Given the description of an element on the screen output the (x, y) to click on. 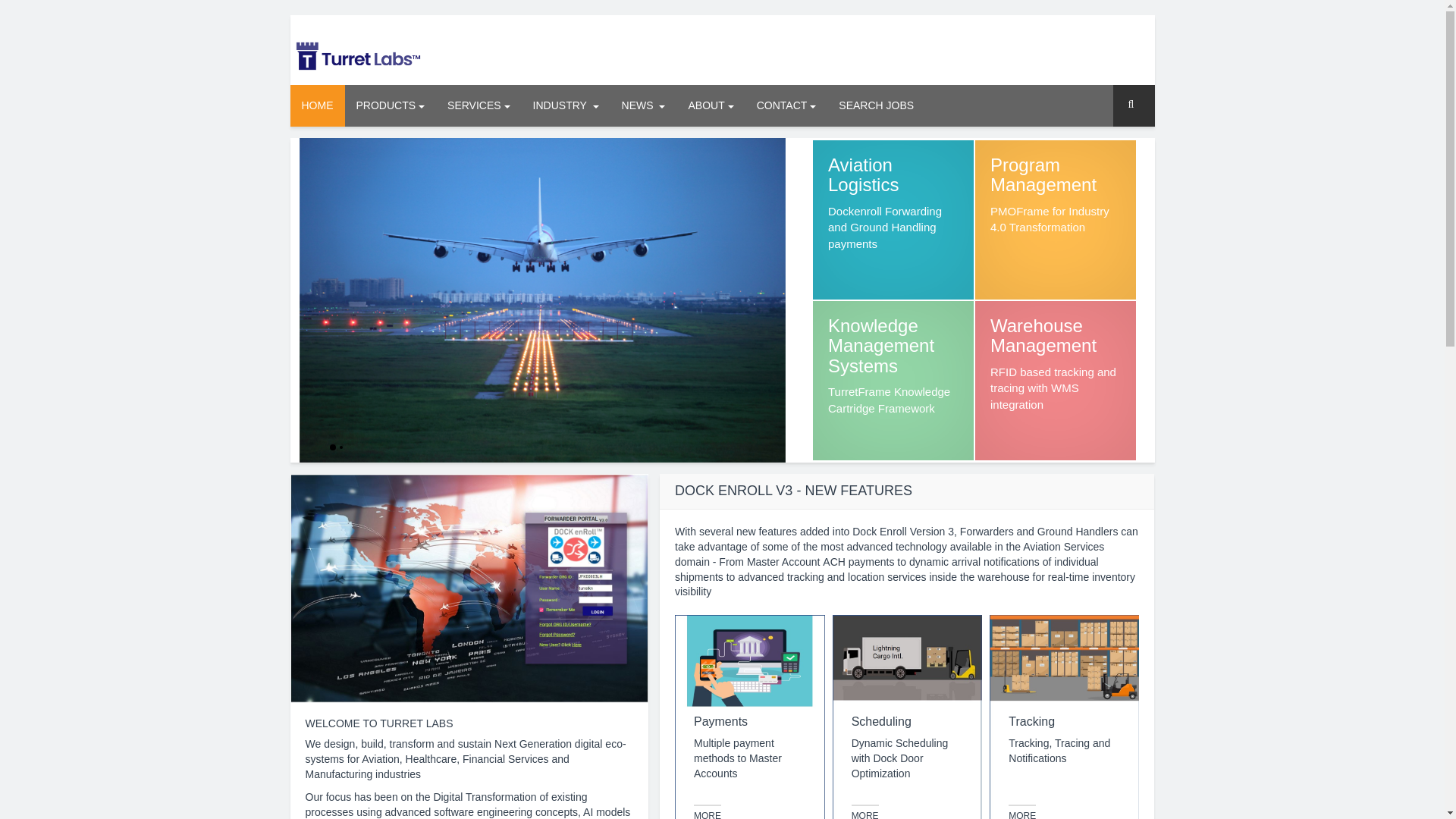
TURRETLABS (357, 55)
SERVICES (478, 105)
SEARCH JOBS (875, 105)
INDUSTRY (565, 105)
NEWS (643, 105)
ABOUT (710, 105)
PRODUCTS (389, 105)
HOME (1055, 219)
MORE (316, 105)
MORE (865, 811)
Payments (707, 811)
